Given the description of an element on the screen output the (x, y) to click on. 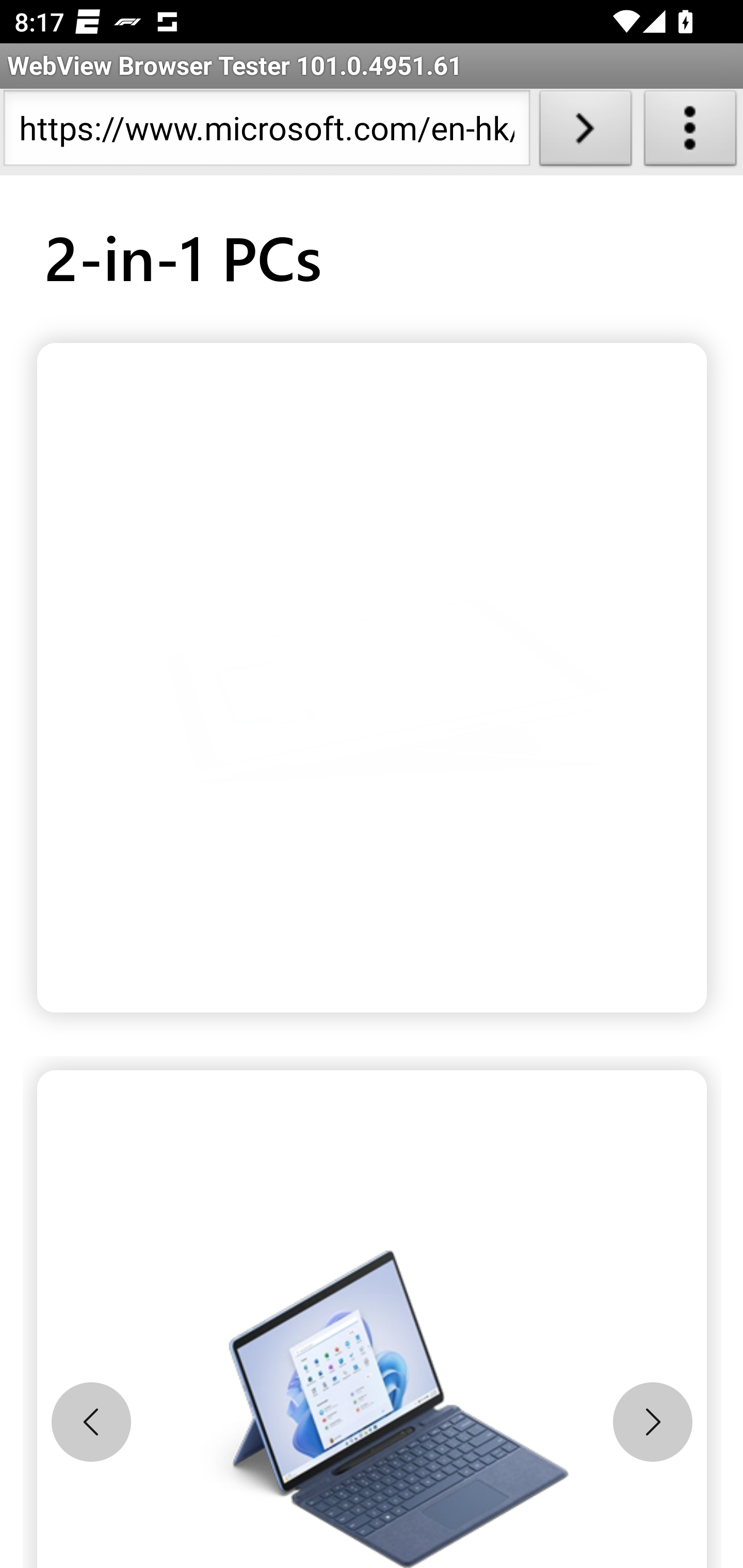
Load URL (585, 132)
About WebView (690, 132)
Previous slide (90, 1421)
Next slide (652, 1421)
